Given the description of an element on the screen output the (x, y) to click on. 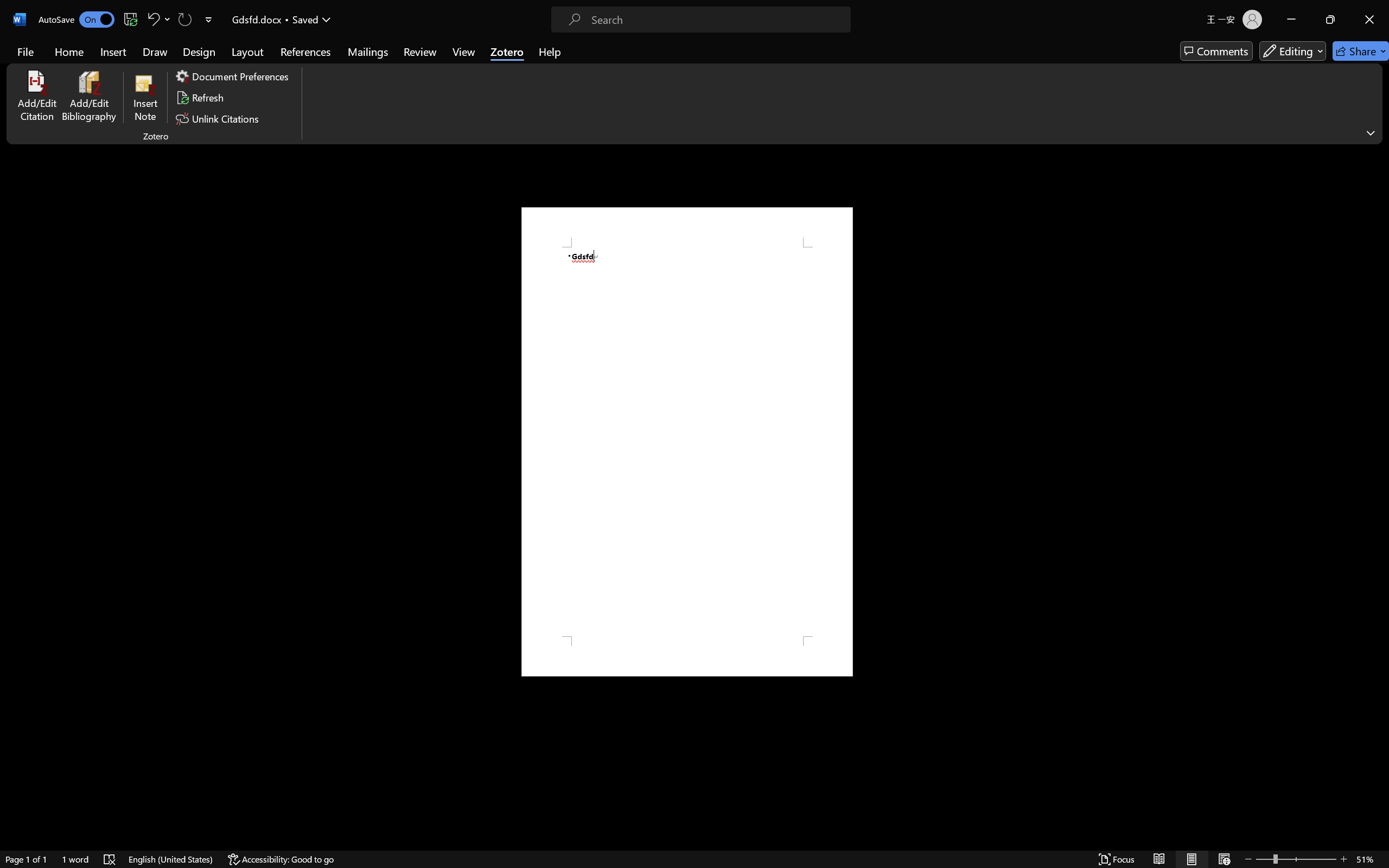
Screen Recording (157, 62)
33% (663, 461)
Audio (184, 62)
Accessibility Checker Accessibility: Investigate (214, 837)
File Explorer (249, 855)
Running applications (674, 855)
Notes  (1168, 837)
More (737, 388)
Task View (194, 855)
